Given the description of an element on the screen output the (x, y) to click on. 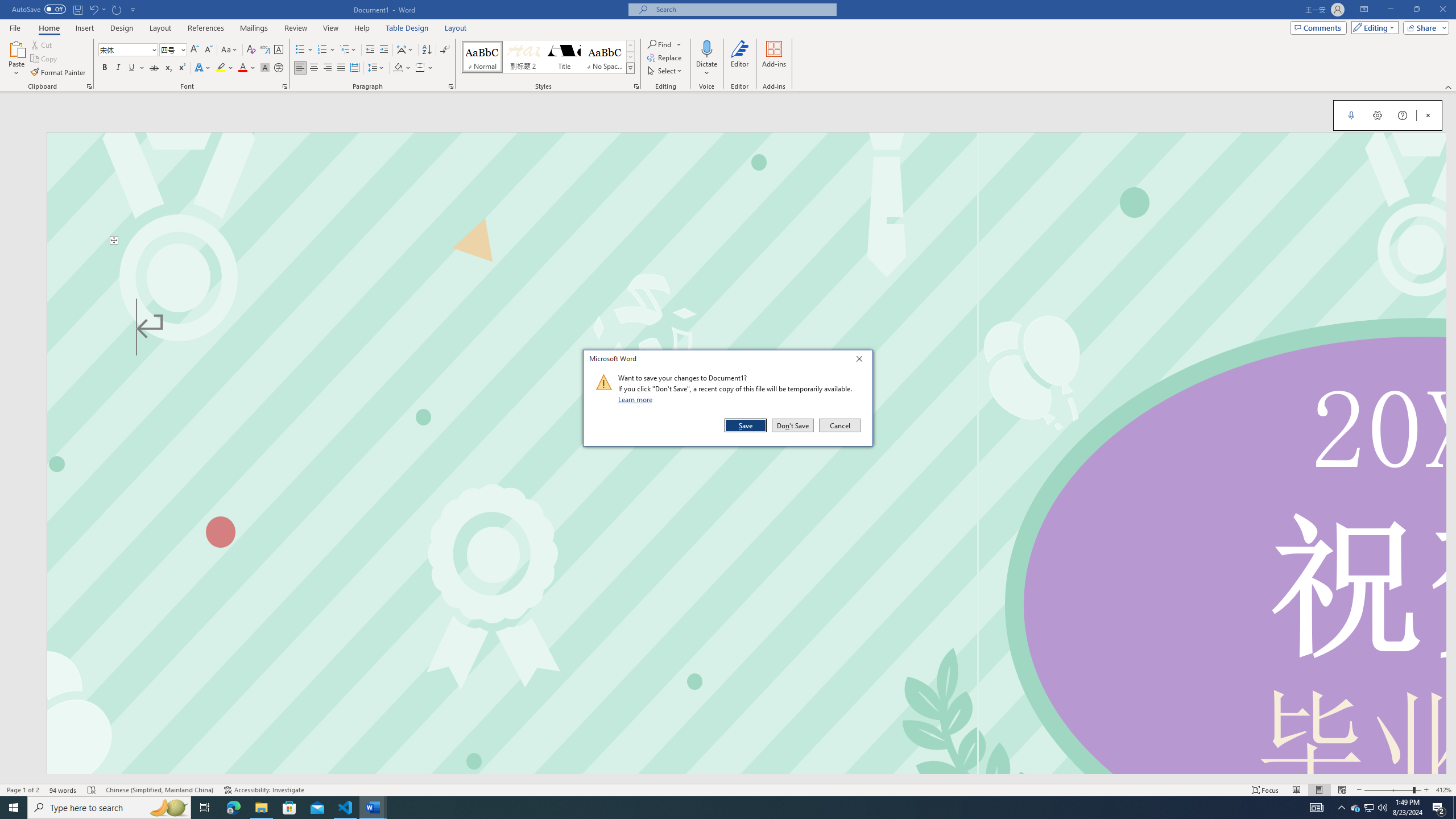
Task View (204, 807)
Undo Text Fill Effect (96, 9)
Repeat Doc Close (117, 9)
